Given the description of an element on the screen output the (x, y) to click on. 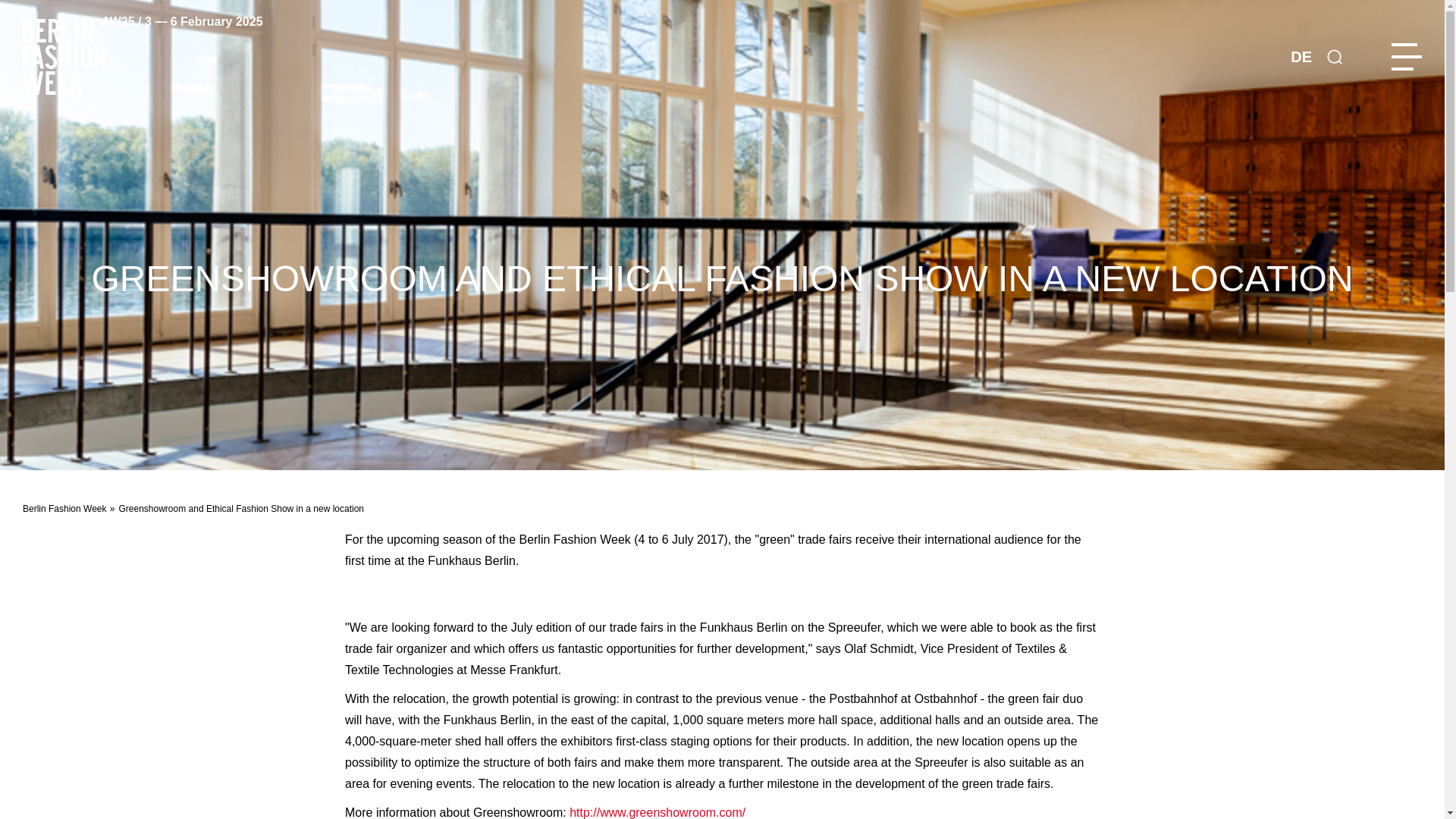
Single news (1300, 56)
Berlin Fashion Week (64, 508)
Berlin Fashion Week (64, 508)
DE (1300, 56)
